Given the description of an element on the screen output the (x, y) to click on. 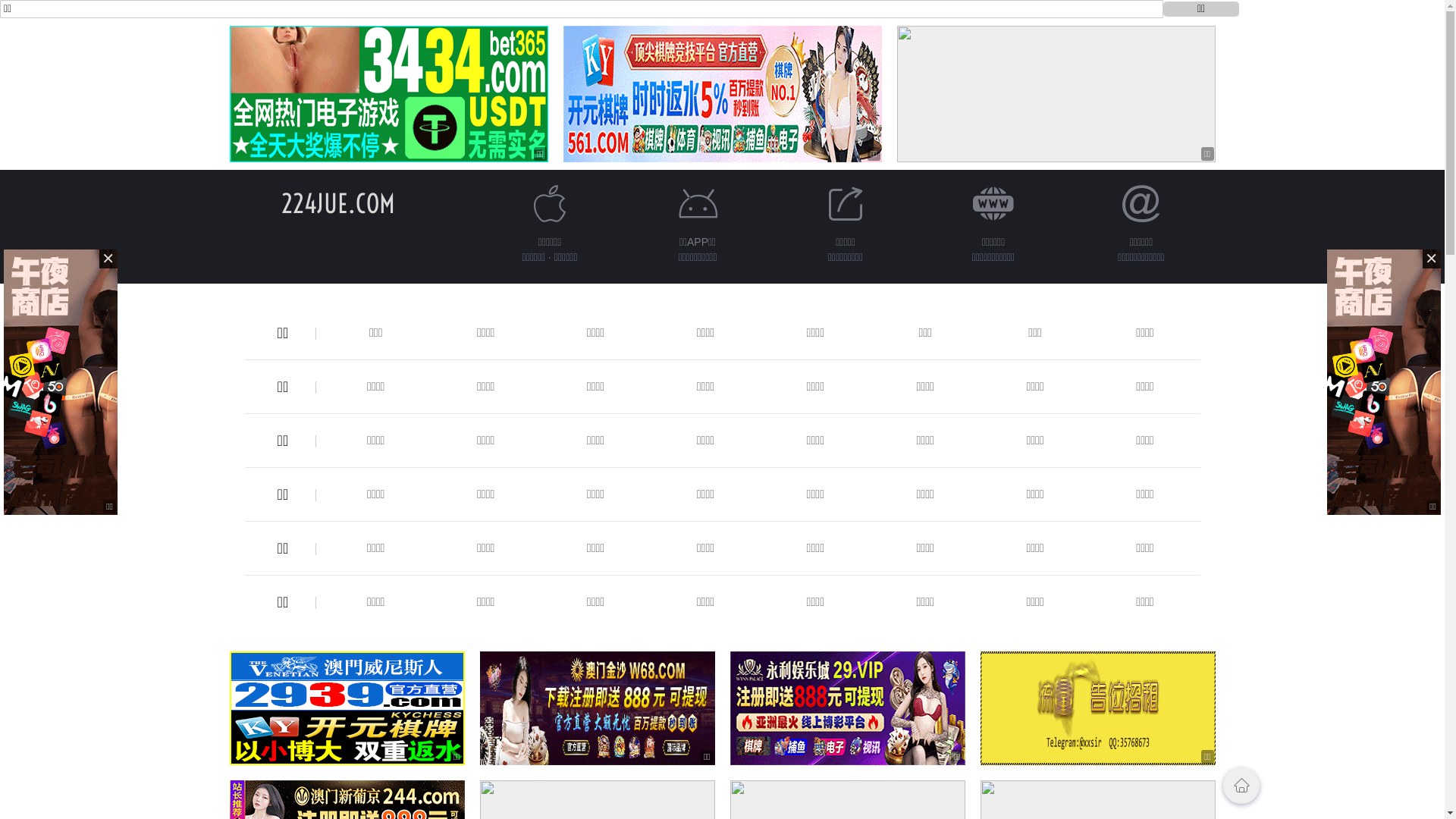
224JUE.COM Element type: text (337, 203)
